Given the description of an element on the screen output the (x, y) to click on. 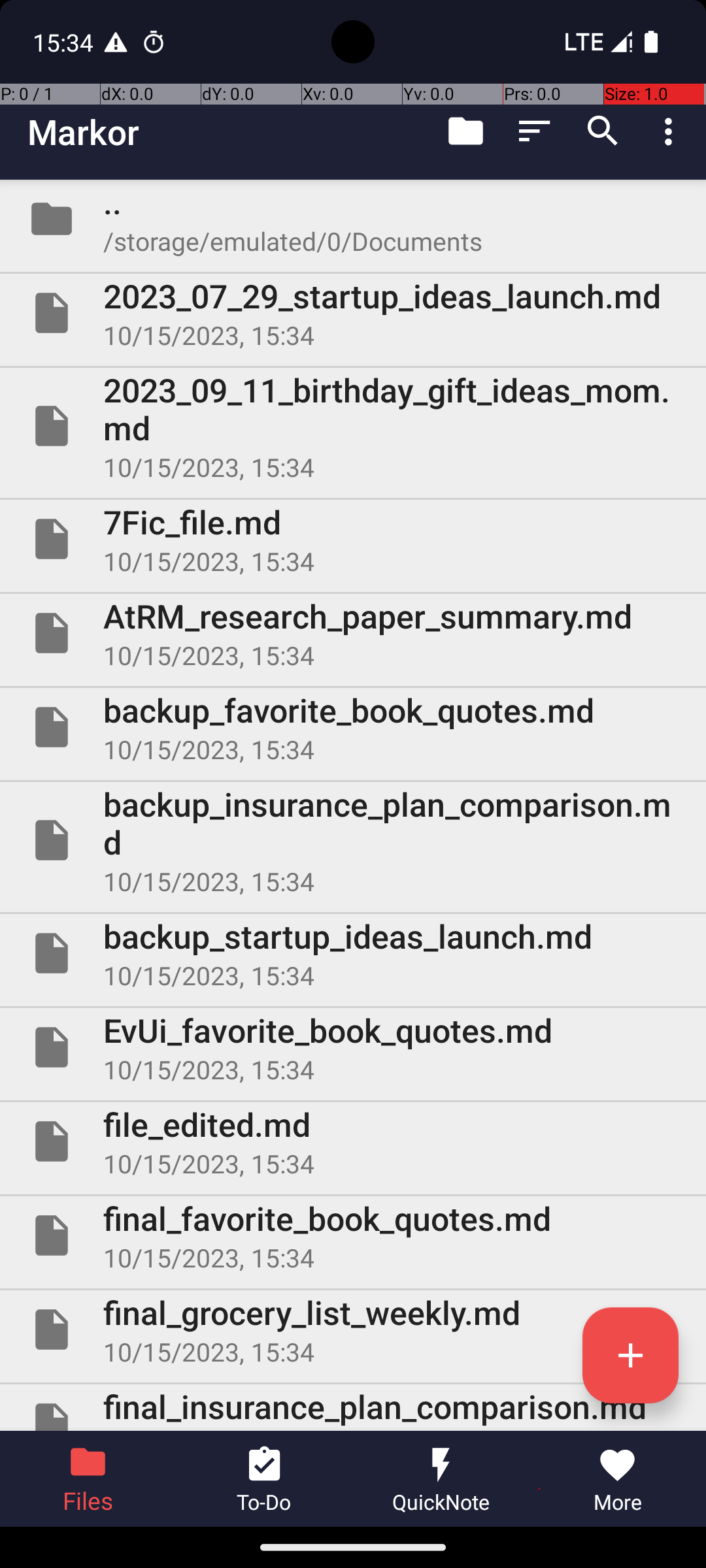
File 2023_07_29_startup_ideas_launch.md  Element type: android.widget.LinearLayout (353, 312)
File 2023_09_11_birthday_gift_ideas_mom.md  Element type: android.widget.LinearLayout (353, 425)
File 7Fic_file.md  Element type: android.widget.LinearLayout (353, 538)
File AtRM_research_paper_summary.md  Element type: android.widget.LinearLayout (353, 632)
File backup_favorite_book_quotes.md  Element type: android.widget.LinearLayout (353, 726)
File backup_insurance_plan_comparison.md  Element type: android.widget.LinearLayout (353, 840)
File backup_startup_ideas_launch.md  Element type: android.widget.LinearLayout (353, 953)
File EvUi_favorite_book_quotes.md  Element type: android.widget.LinearLayout (353, 1047)
File file_edited.md  Element type: android.widget.LinearLayout (353, 1141)
File final_favorite_book_quotes.md  Element type: android.widget.LinearLayout (353, 1235)
File final_grocery_list_weekly.md  Element type: android.widget.LinearLayout (353, 1329)
File final_insurance_plan_comparison.md  Element type: android.widget.LinearLayout (353, 1407)
